Given the description of an element on the screen output the (x, y) to click on. 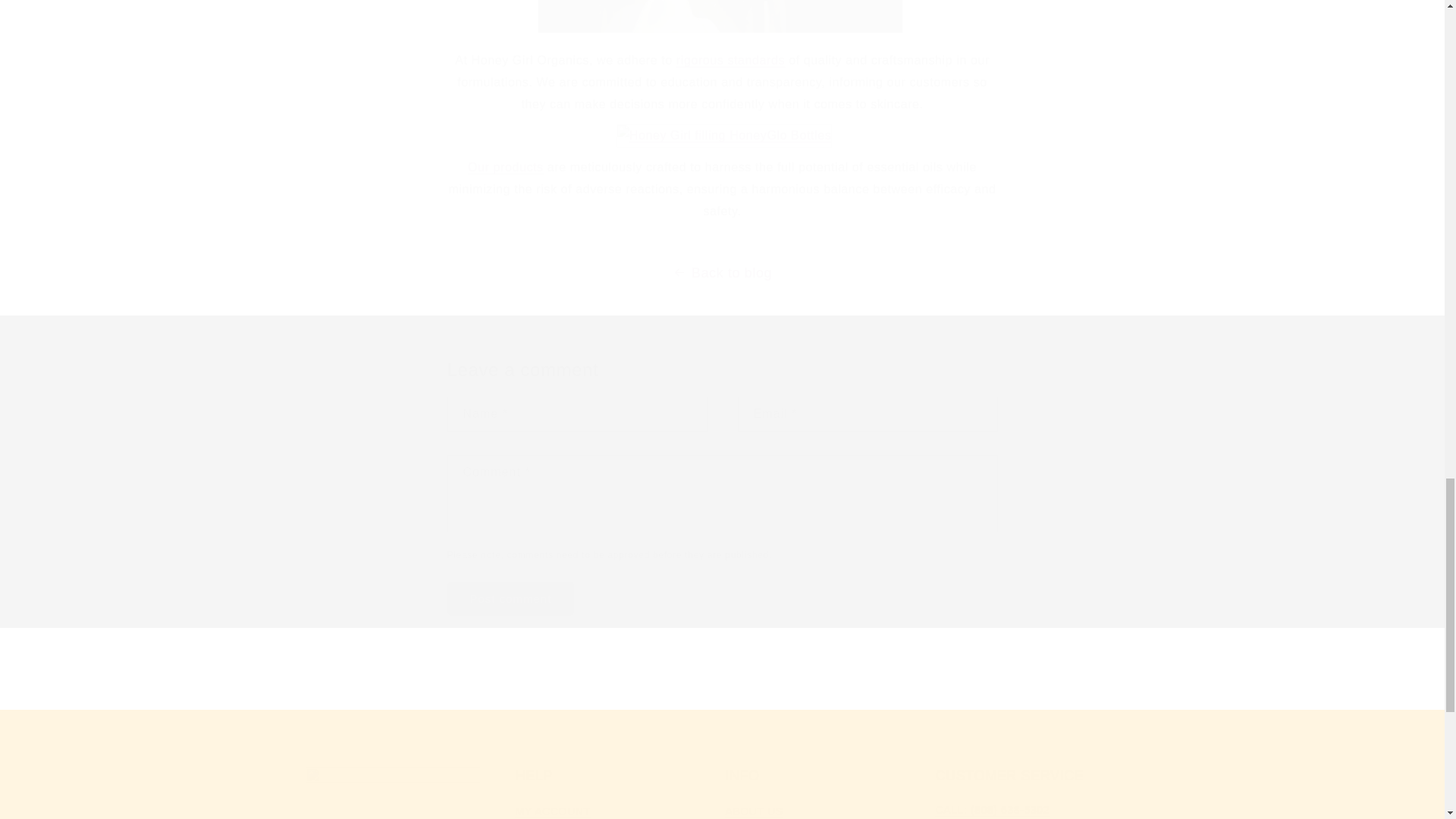
USDA Organic Certification Process (730, 60)
All Honey Girl Organics Products (505, 166)
Honey Glo Regenerating Serum Product Page (723, 134)
Post comment (510, 598)
